Given the description of an element on the screen output the (x, y) to click on. 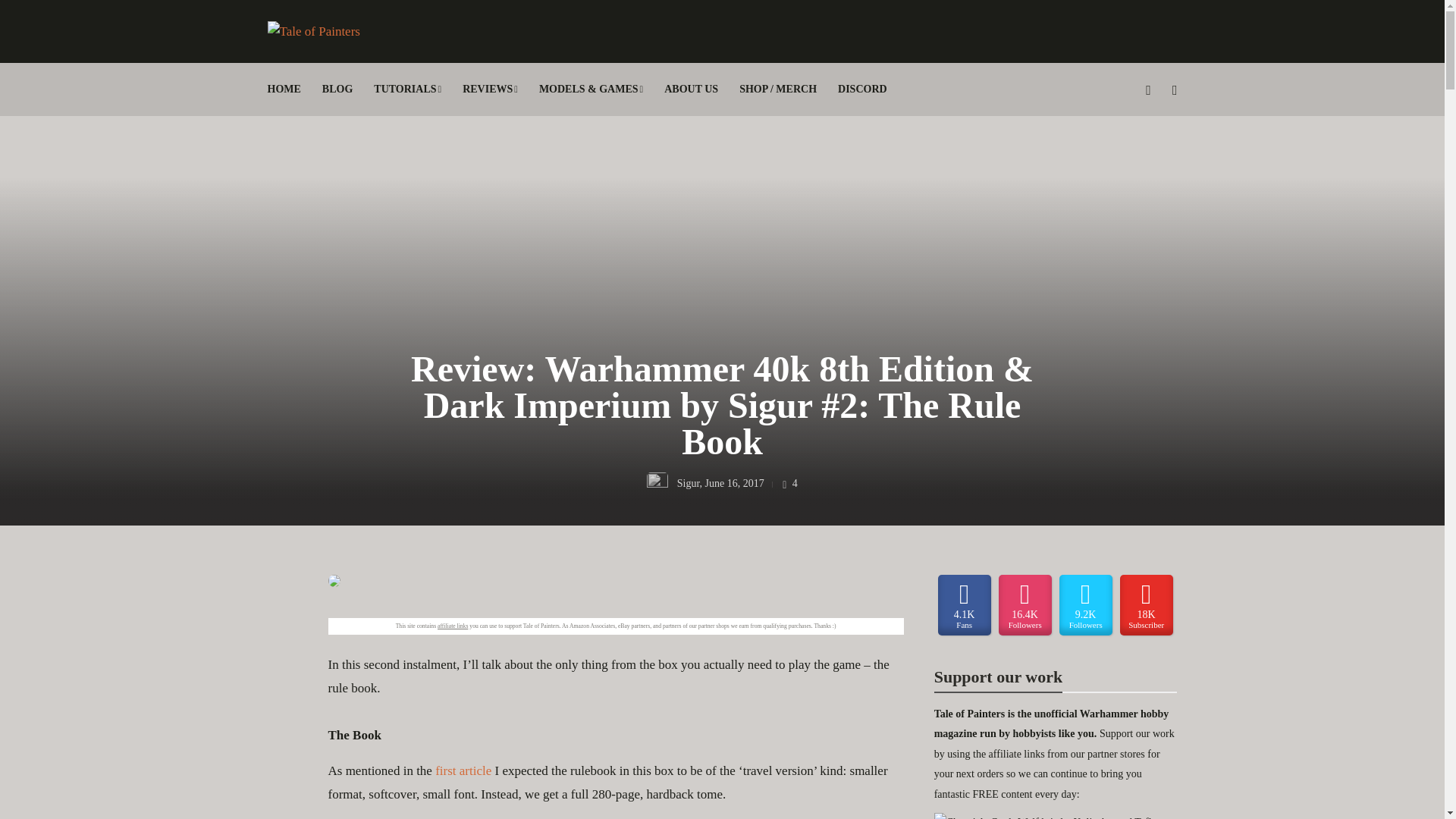
TUTORIALS (407, 89)
REVIEWS (490, 89)
HOME (282, 89)
BLOG (336, 89)
